Given the description of an element on the screen output the (x, y) to click on. 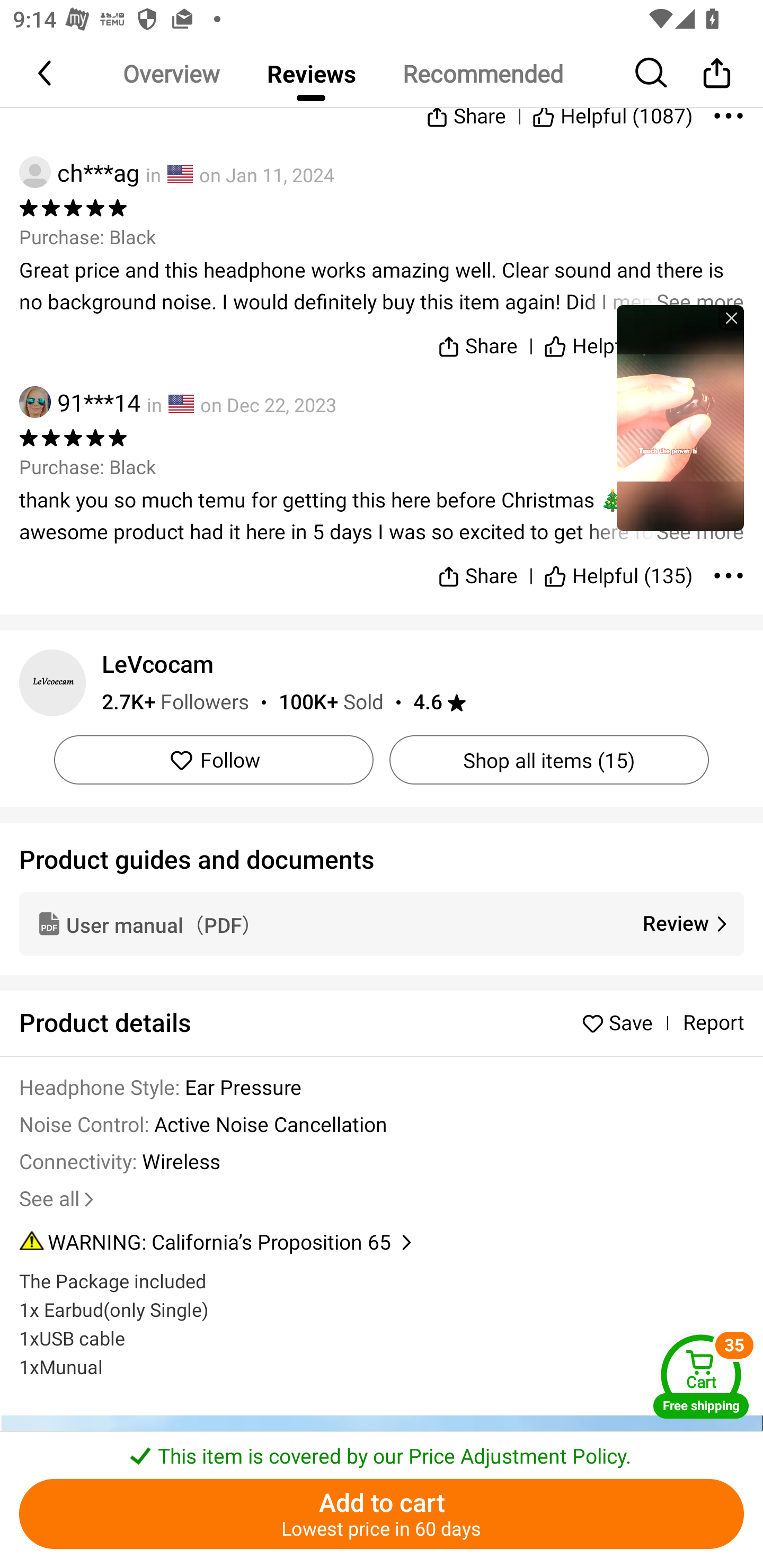
Overview (171, 72)
Reviews (311, 72)
Recommended (482, 72)
Back (46, 72)
Share (716, 72)
  Share (465, 112)
  Helpful (1087) (612, 112)
ch***ag (79, 172)
See more (381, 286)
tronplayer_view (680, 417)
  Share (477, 342)
91***14 (79, 401)
See more (381, 515)
  Share (477, 568)
  Helpful (135) (618, 568)
  Follow (213, 759)
Shop all items (15) (548, 759)
User manual（PDF） Review (381, 923)
Report (712, 1022)
 Save (621, 1022)
See all  (58, 1199)
￼WARNING: California’s Proposition 65   (381, 1242)
Cart Free shipping Cart (701, 1375)
Add to cart Lowest price in 60 days (381, 1513)
